Given the description of an element on the screen output the (x, y) to click on. 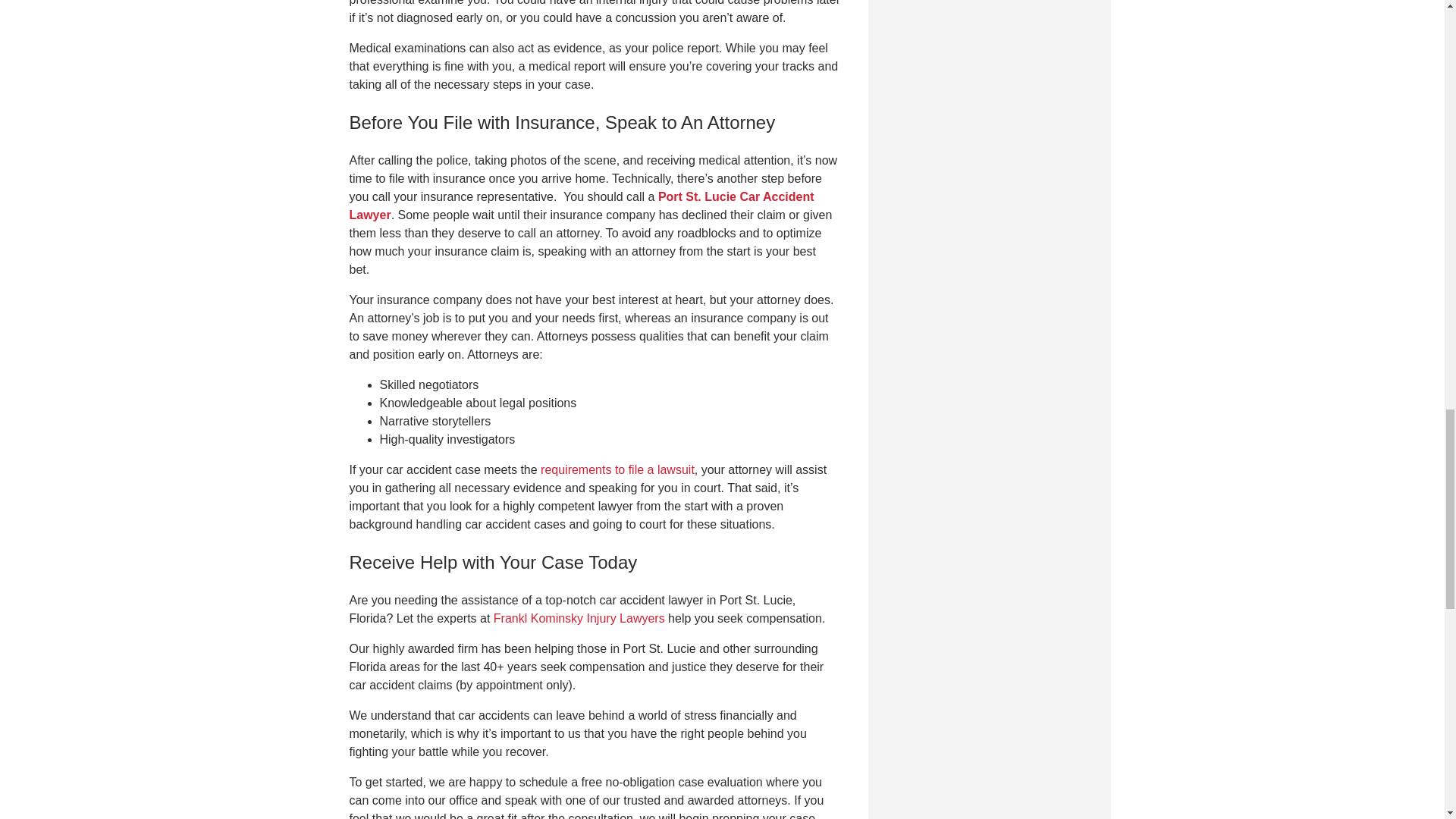
Port St. Lucie Car Accident Lawyer (581, 205)
Frankl Kominsky Injury Lawyers (579, 617)
requirements to file a lawsuit (617, 469)
